Given the description of an element on the screen output the (x, y) to click on. 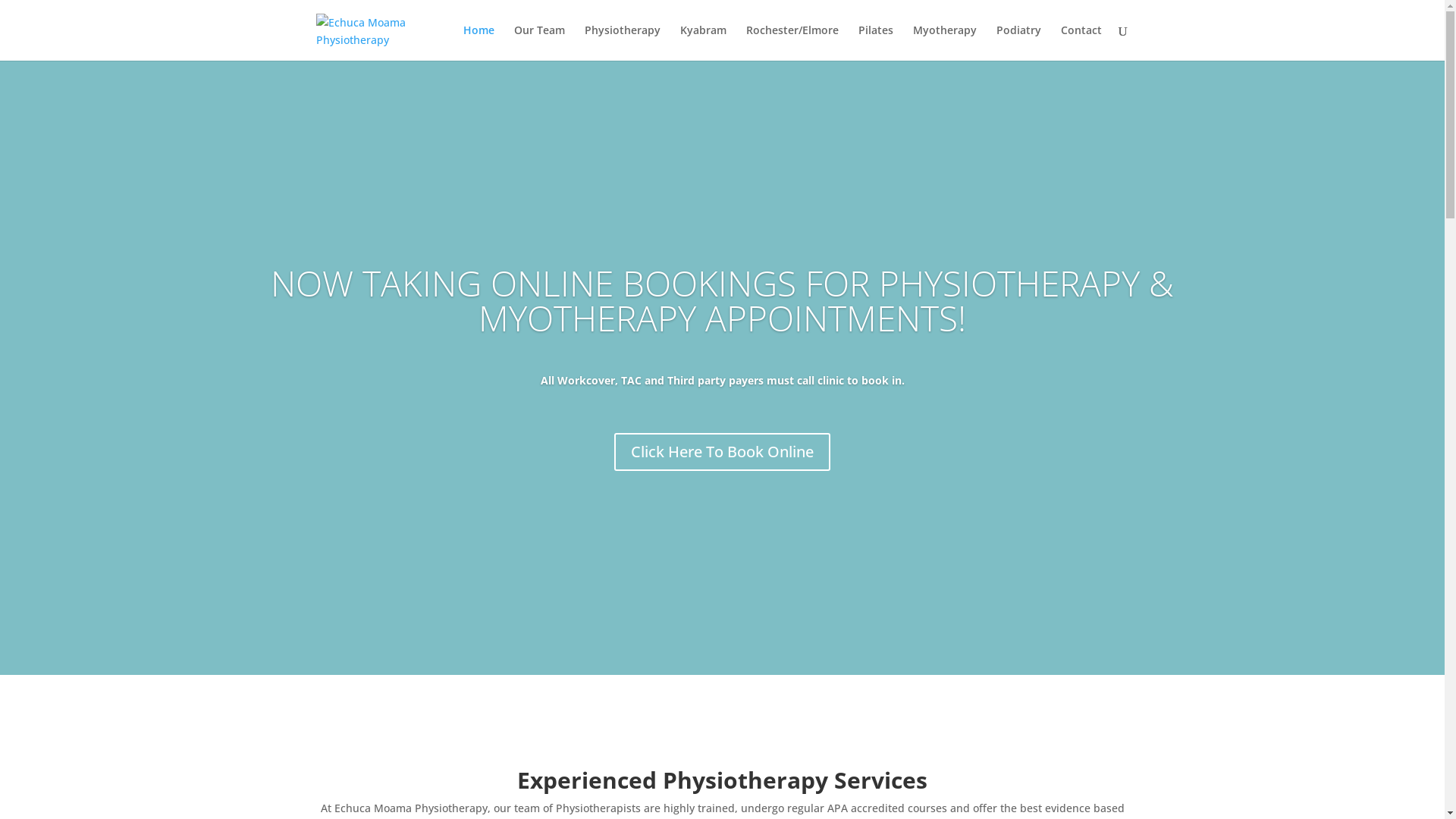
Contact Element type: text (1080, 42)
Click Here To Book Online Element type: text (722, 451)
Myotherapy Element type: text (944, 42)
Pilates Element type: text (875, 42)
Home Element type: text (477, 42)
Rochester/Elmore Element type: text (792, 42)
Kyabram Element type: text (702, 42)
Physiotherapy Element type: text (621, 42)
Our Team Element type: text (539, 42)
Podiatry Element type: text (1018, 42)
